Given the description of an element on the screen output the (x, y) to click on. 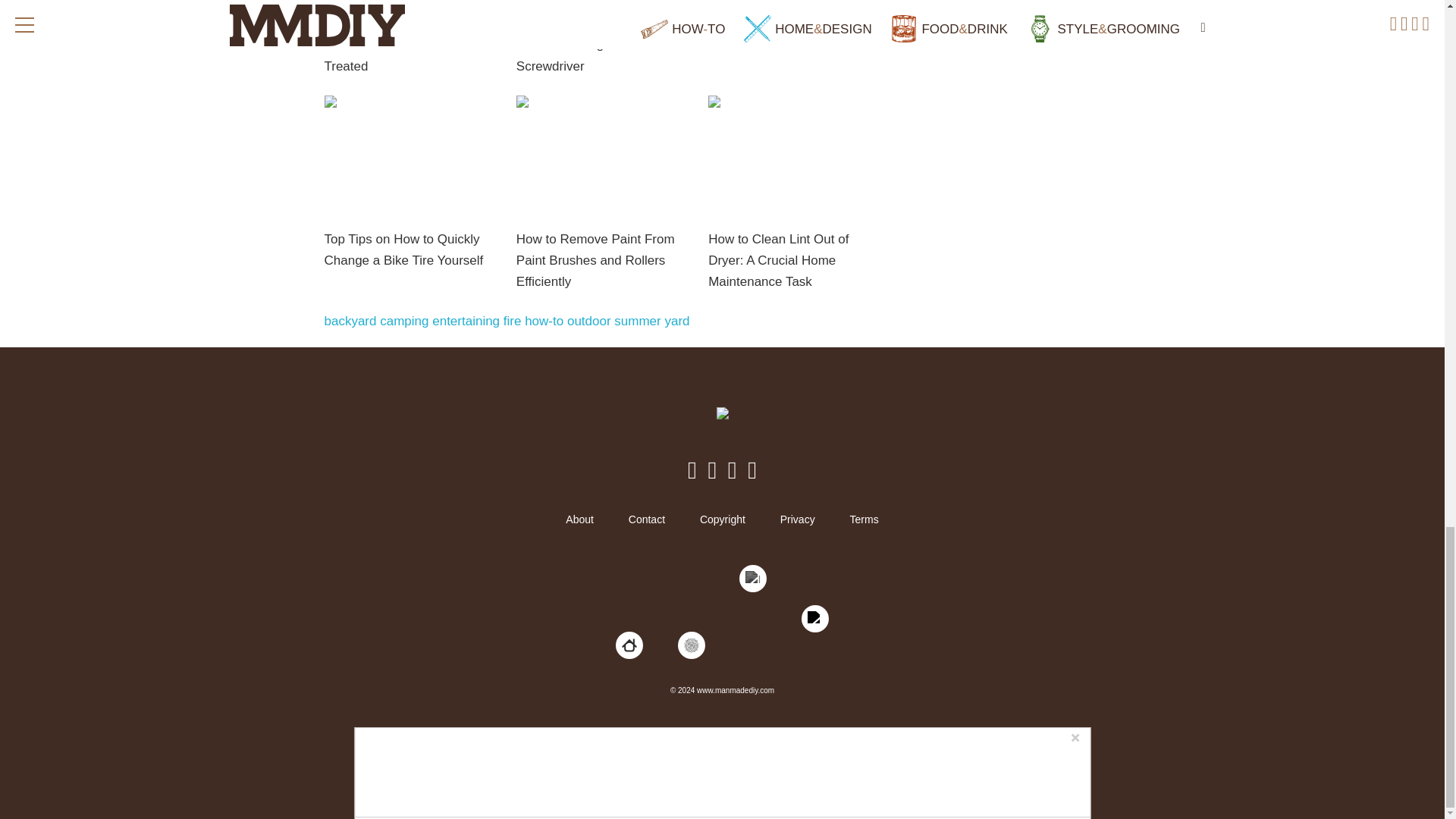
Higher Perspectives (691, 644)
Decoist (629, 644)
